Given the description of an element on the screen output the (x, y) to click on. 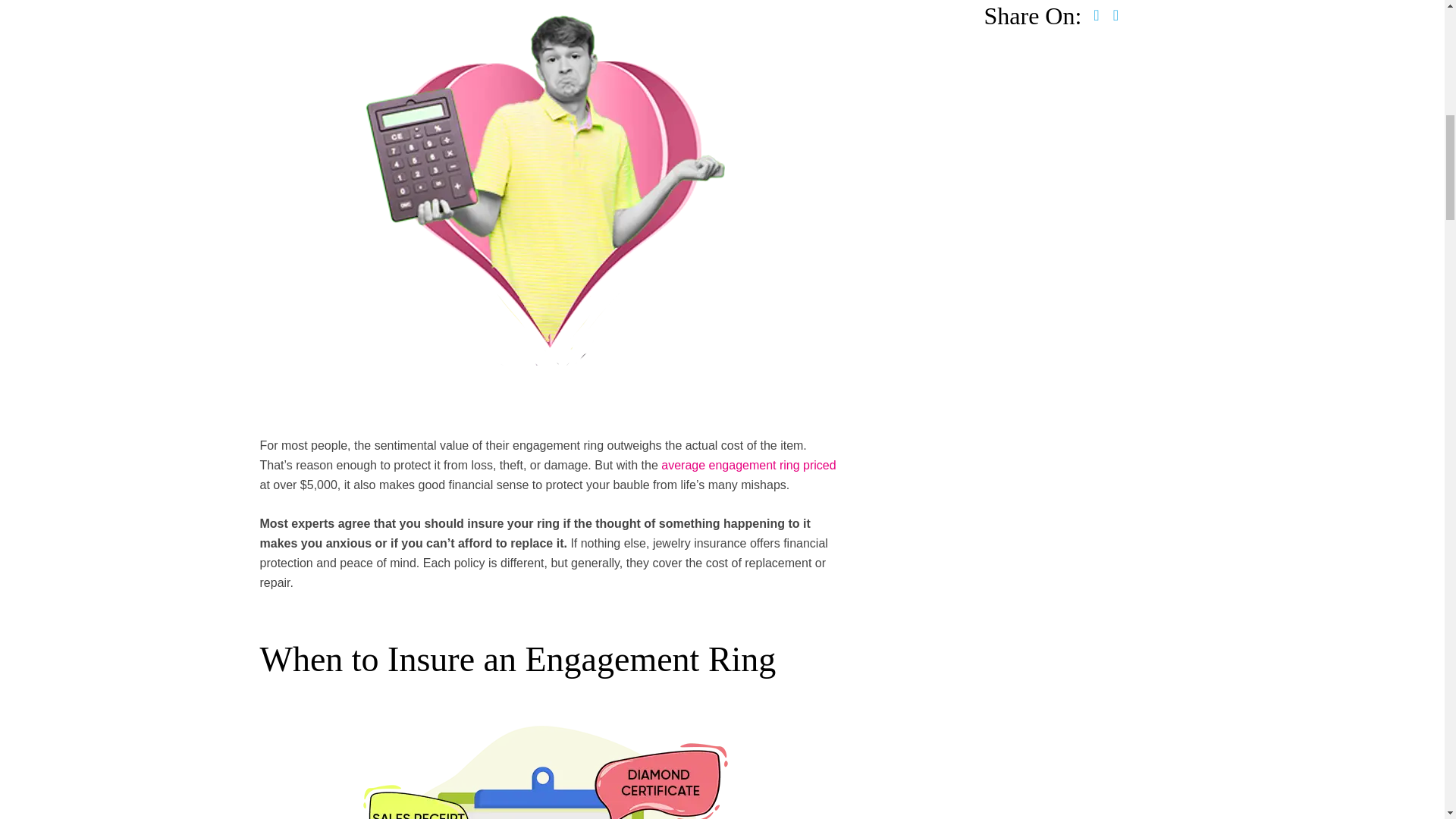
average engagement ring priced (748, 464)
